Given the description of an element on the screen output the (x, y) to click on. 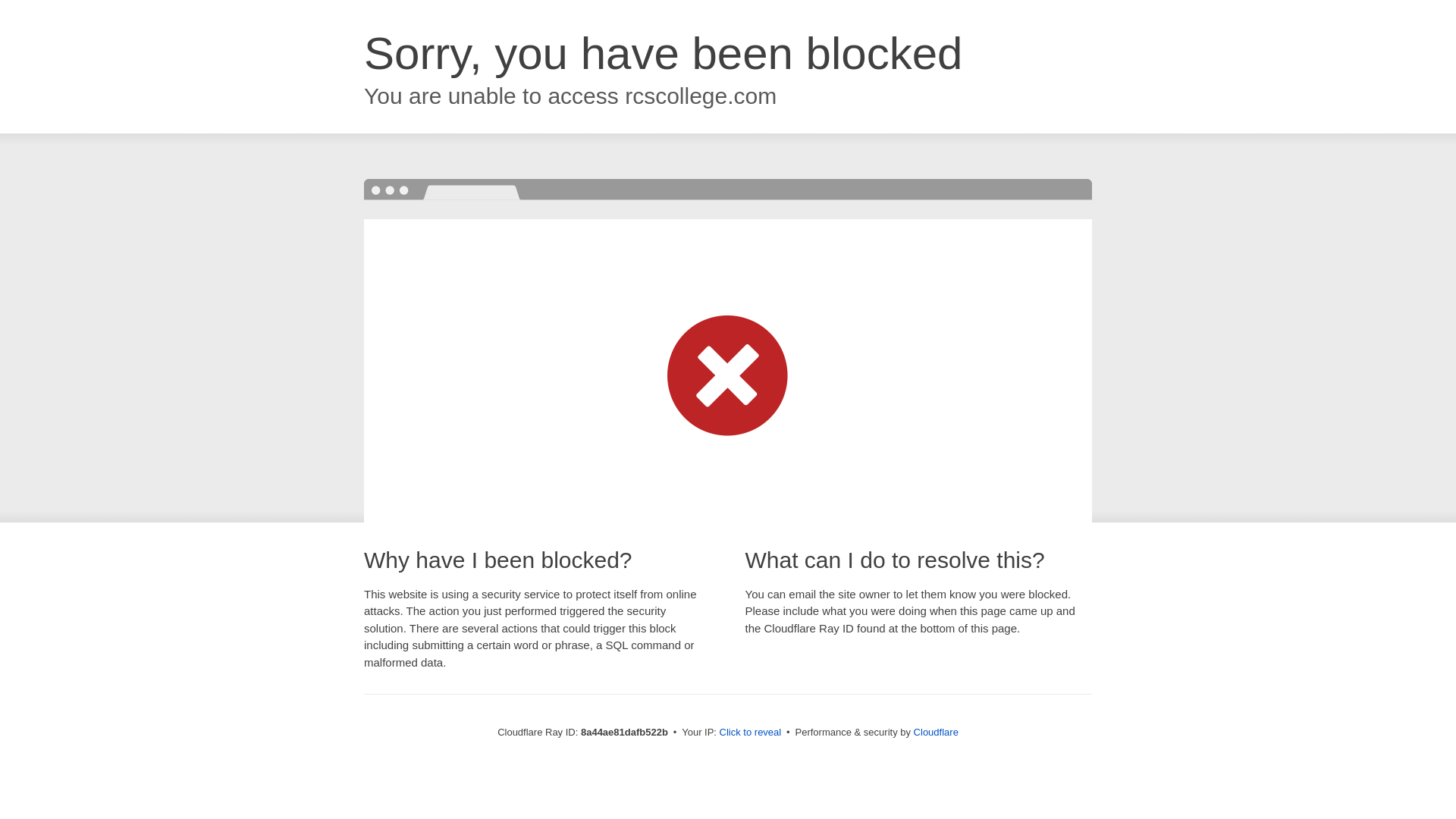
Cloudflare (936, 731)
Click to reveal (750, 732)
